Given the description of an element on the screen output the (x, y) to click on. 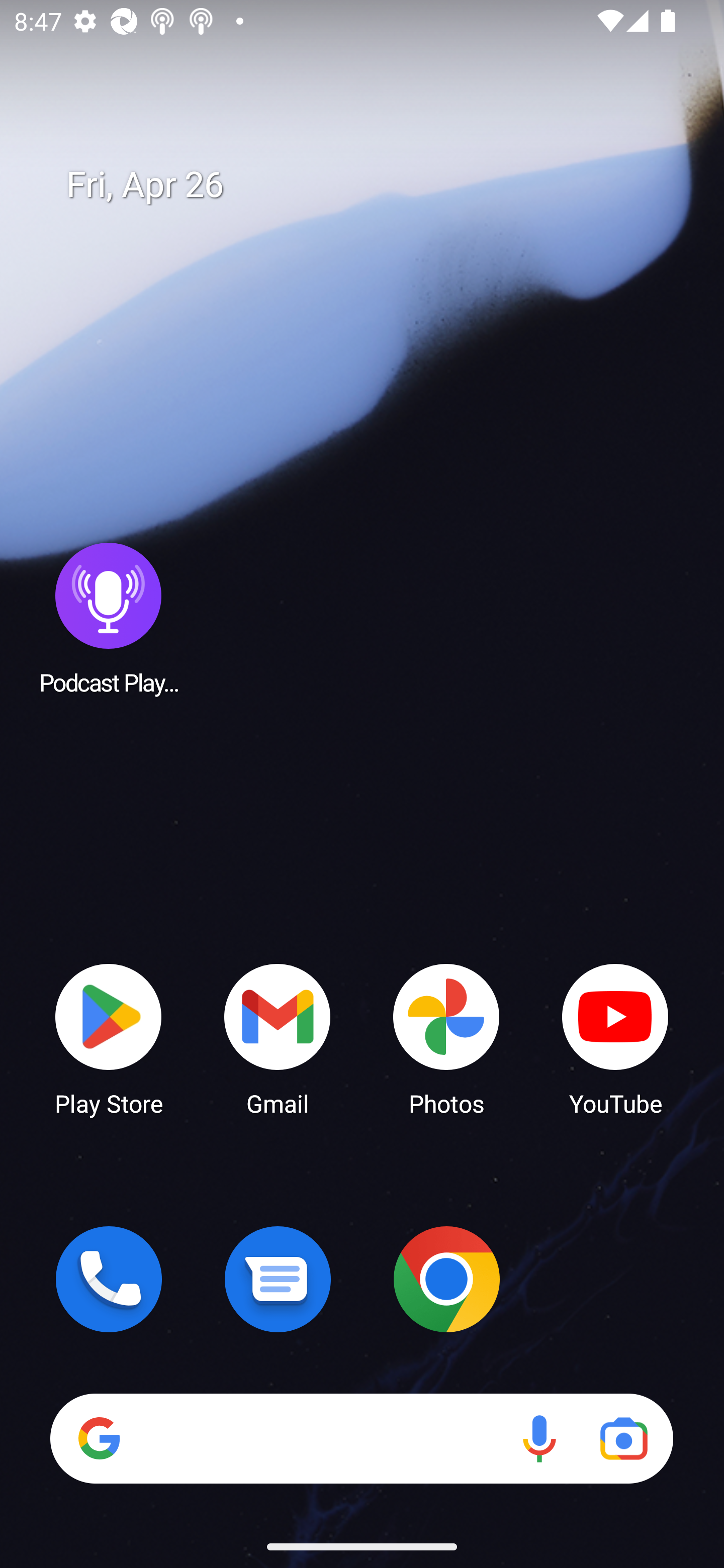
Fri, Apr 26 (375, 184)
Podcast Player (108, 617)
Play Store (108, 1038)
Gmail (277, 1038)
Photos (445, 1038)
YouTube (615, 1038)
Phone (108, 1279)
Messages (277, 1279)
Chrome (446, 1279)
Search Voice search Google Lens (361, 1438)
Voice search (539, 1438)
Google Lens (623, 1438)
